Given the description of an element on the screen output the (x, y) to click on. 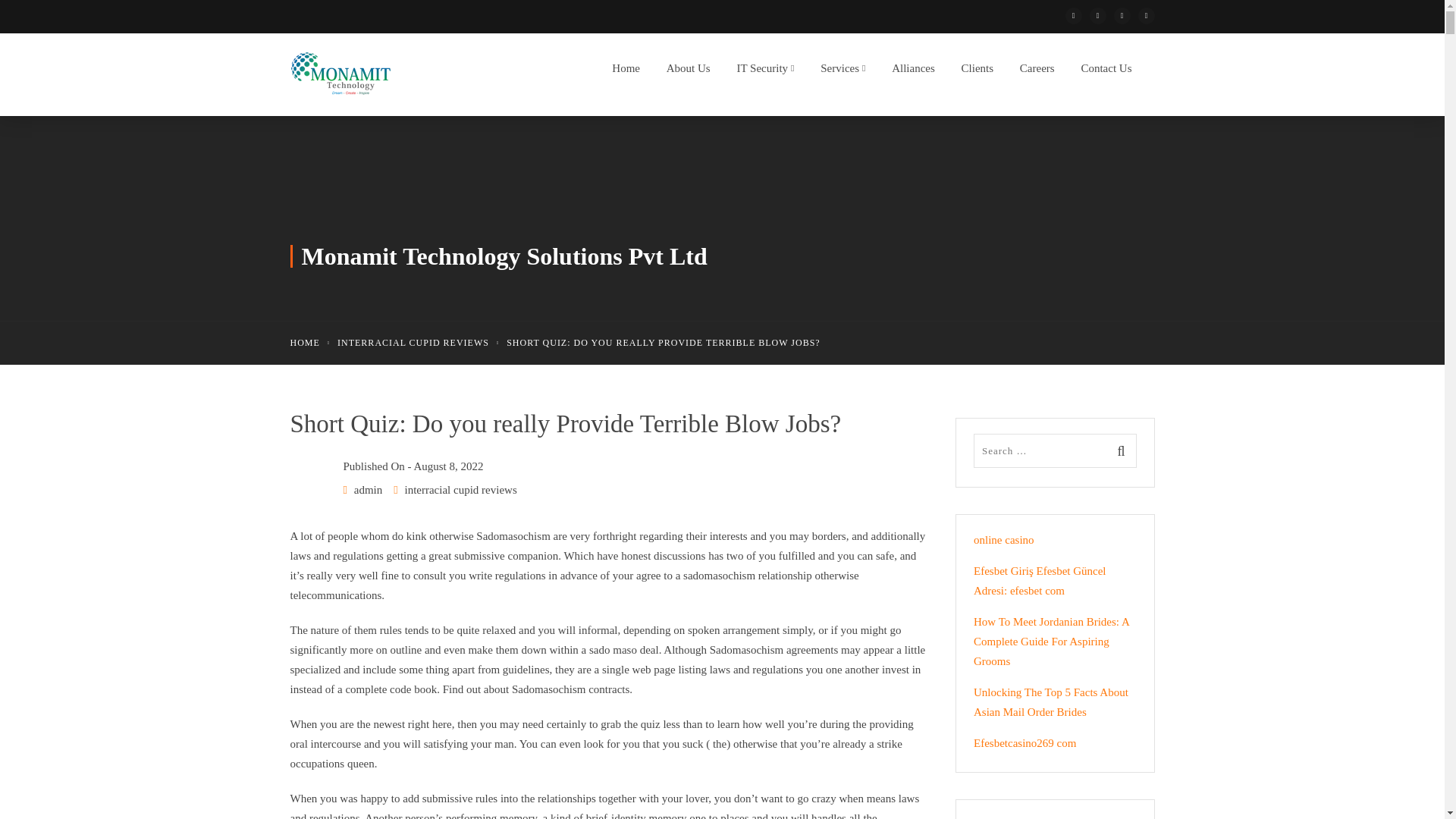
Home (622, 71)
About Us (684, 71)
IT Security (760, 71)
